Given the description of an element on the screen output the (x, y) to click on. 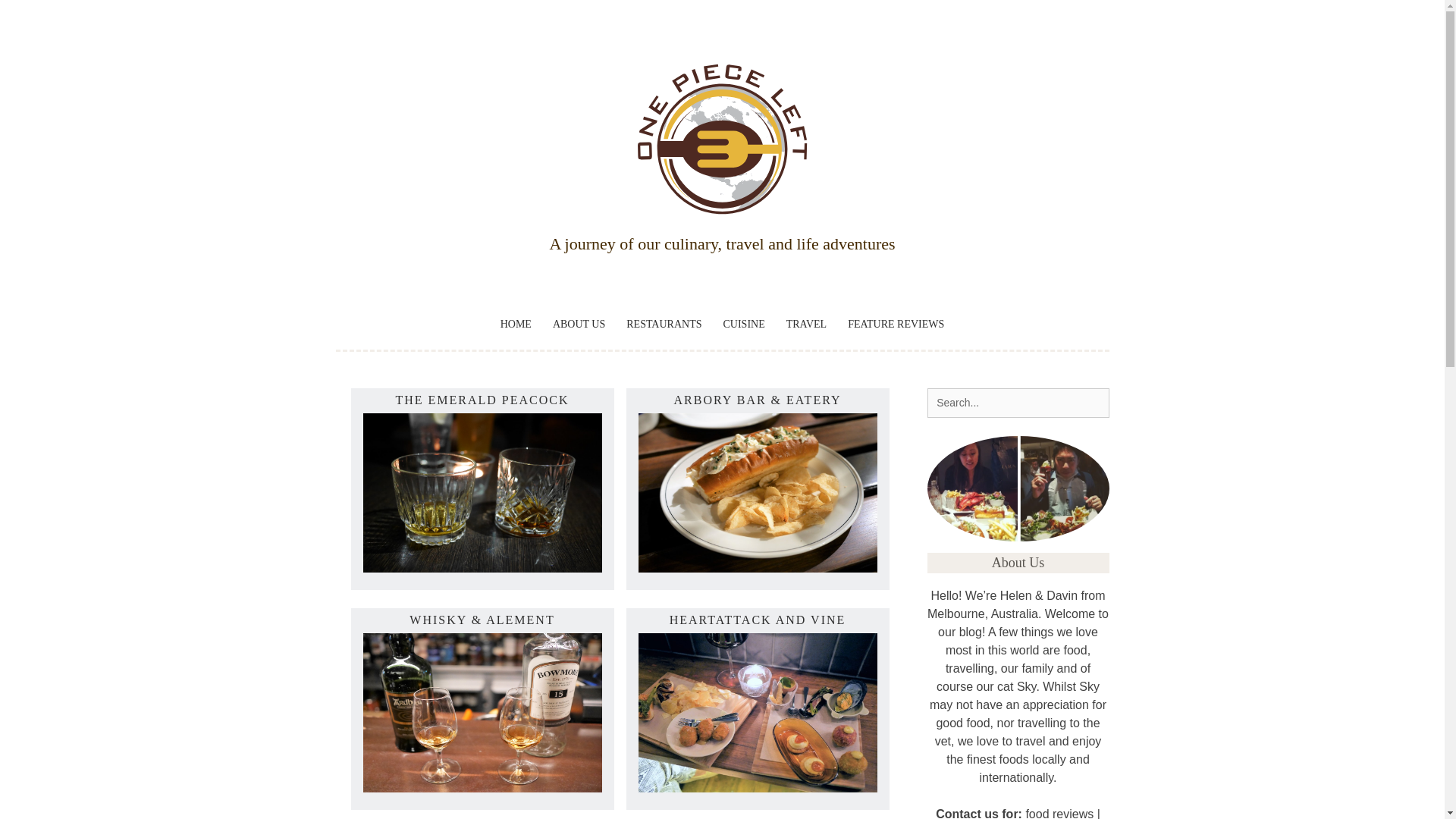
Heartattack and Vine (758, 788)
RESTAURANTS (663, 324)
The Emerald Peacock (481, 567)
   Search... (1017, 402)
ABOUT US (579, 324)
HOME (515, 324)
CUISINE (744, 324)
